Given the description of an element on the screen output the (x, y) to click on. 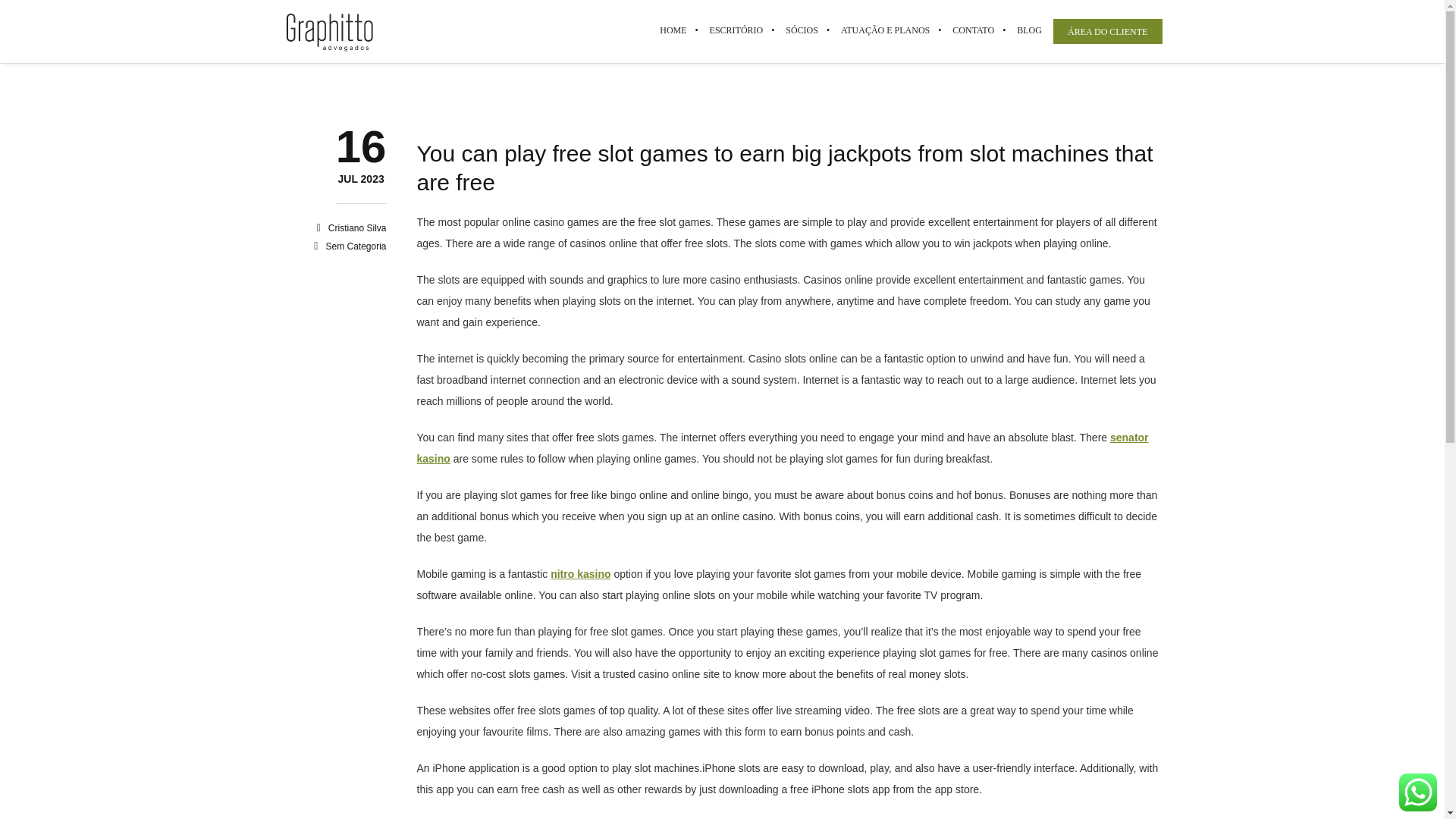
Sem Categoria (354, 245)
senator kasino (782, 448)
CONTATO (973, 30)
nitro kasino (580, 573)
Cristiano Silva (358, 227)
WhatsApp us (1418, 792)
Posts de Cristiano Silva (361, 179)
